Given the description of an element on the screen output the (x, y) to click on. 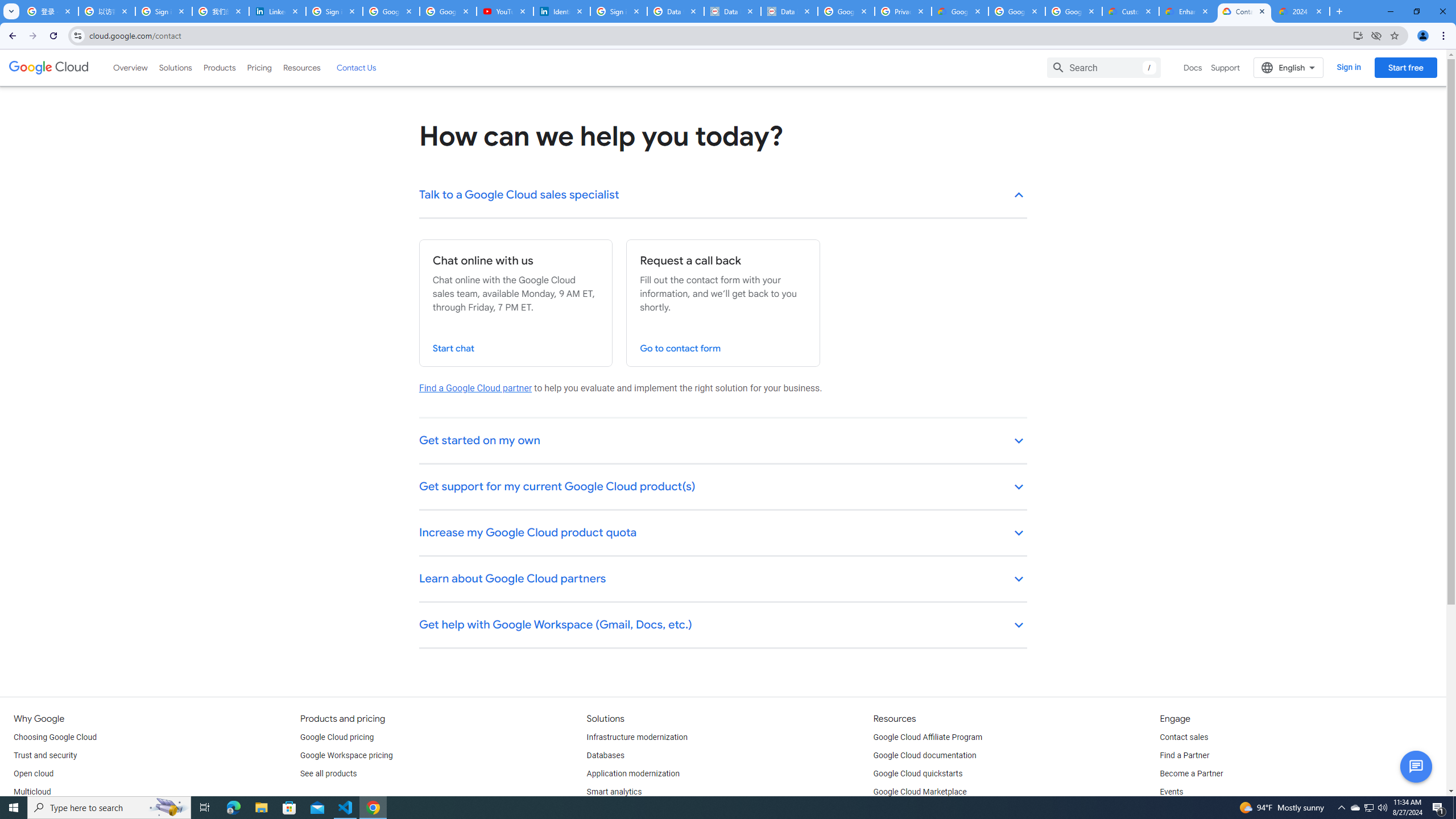
Get started on my own keyboard_arrow_down (723, 441)
Learn about Google Cloud partners keyboard_arrow_down (723, 579)
Docs (1192, 67)
Become a Partner (1190, 773)
Google Workspace - Specific Terms (1073, 11)
Trust and security (45, 755)
Resources (301, 67)
Increase my Google Cloud product quota keyboard_arrow_down (723, 533)
Open cloud (33, 773)
Infrastructure modernization (637, 737)
